Given the description of an element on the screen output the (x, y) to click on. 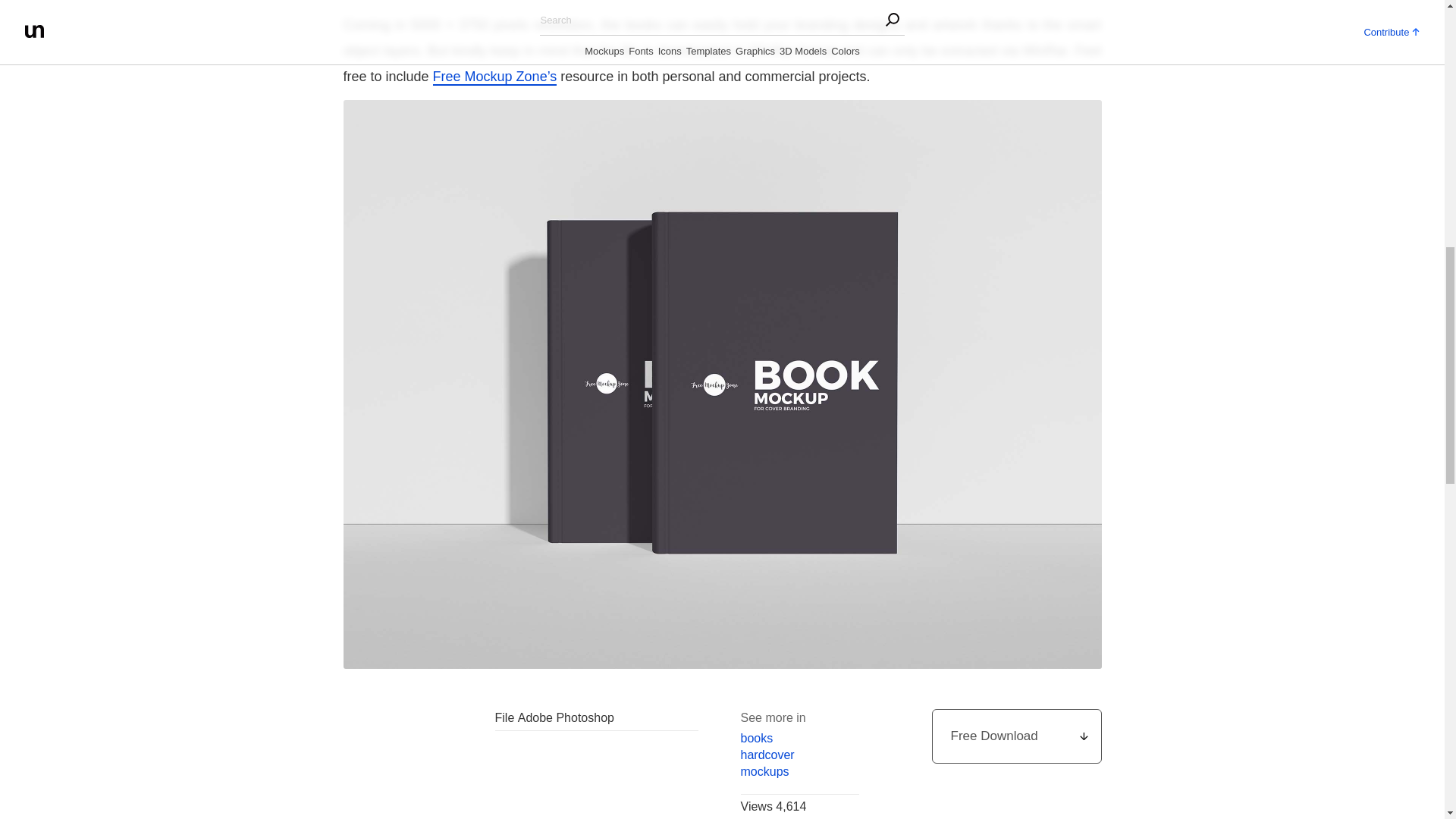
Free Download (1015, 736)
mockups (799, 771)
hardcover (799, 754)
books (799, 738)
